Given the description of an element on the screen output the (x, y) to click on. 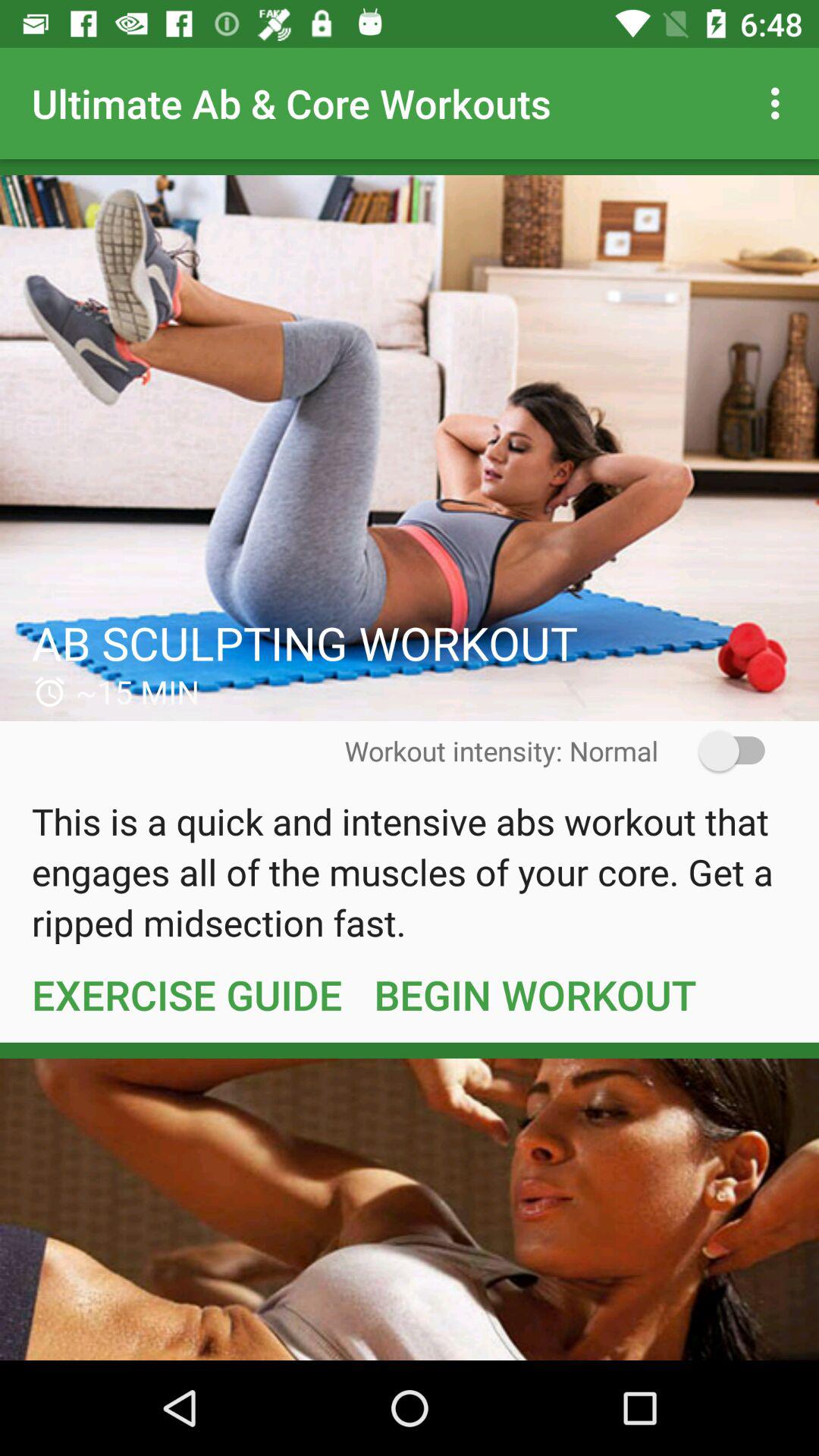
tap app next to the ultimate ab core item (779, 103)
